Given the description of an element on the screen output the (x, y) to click on. 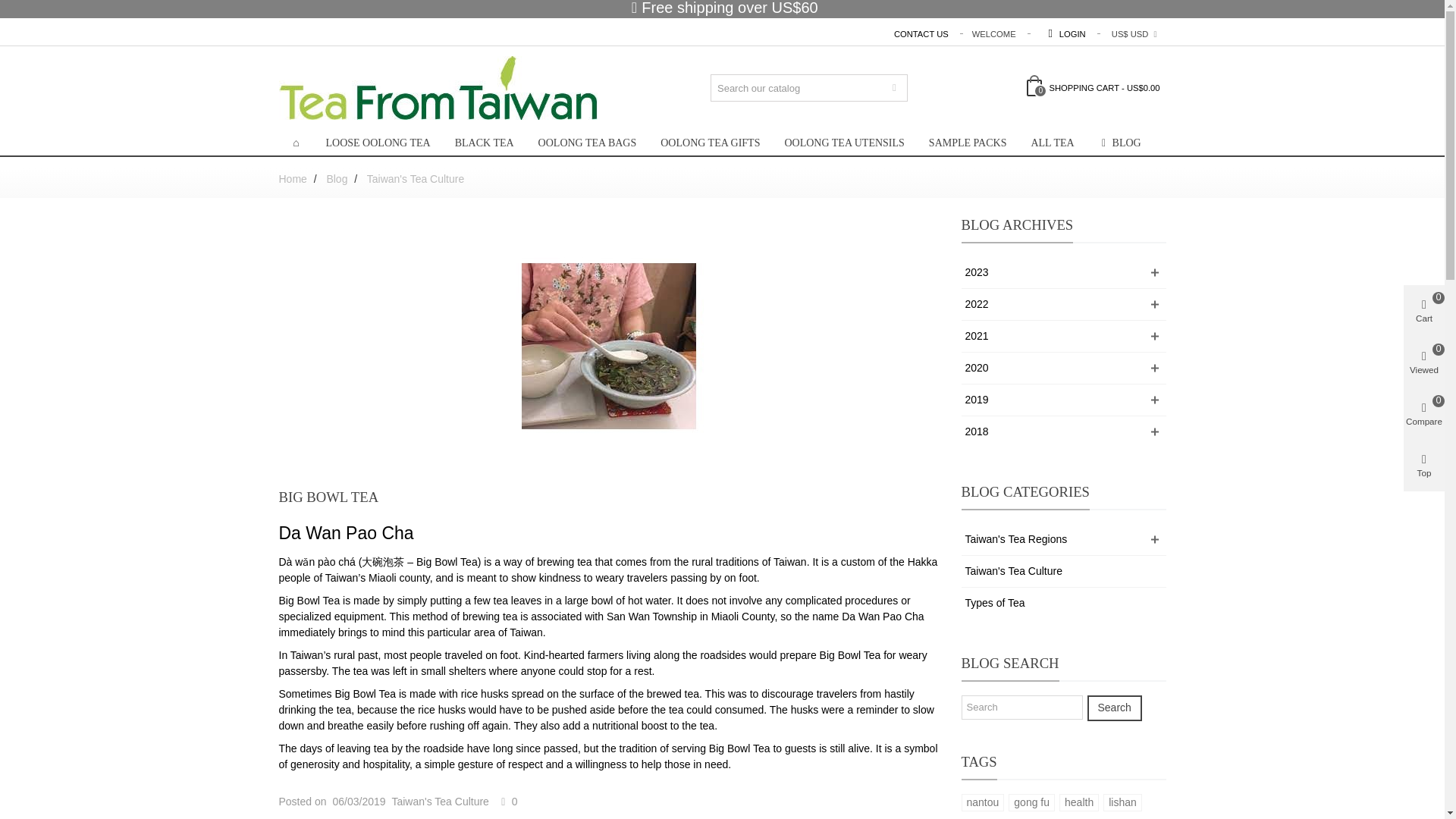
OOLONG TEA BAGS (587, 143)
ALL TEA (1051, 143)
LOOSE OOLONG TEA (378, 143)
Taiwan's Tea Culture (439, 801)
Oolong Tea Bags (587, 143)
Log in to your customer account (1060, 33)
Taiwan's Tea Culture (415, 178)
Blog (338, 178)
OOLONG TEA UTENSILS (843, 143)
SAMPLE PACKS (968, 143)
